Given the description of an element on the screen output the (x, y) to click on. 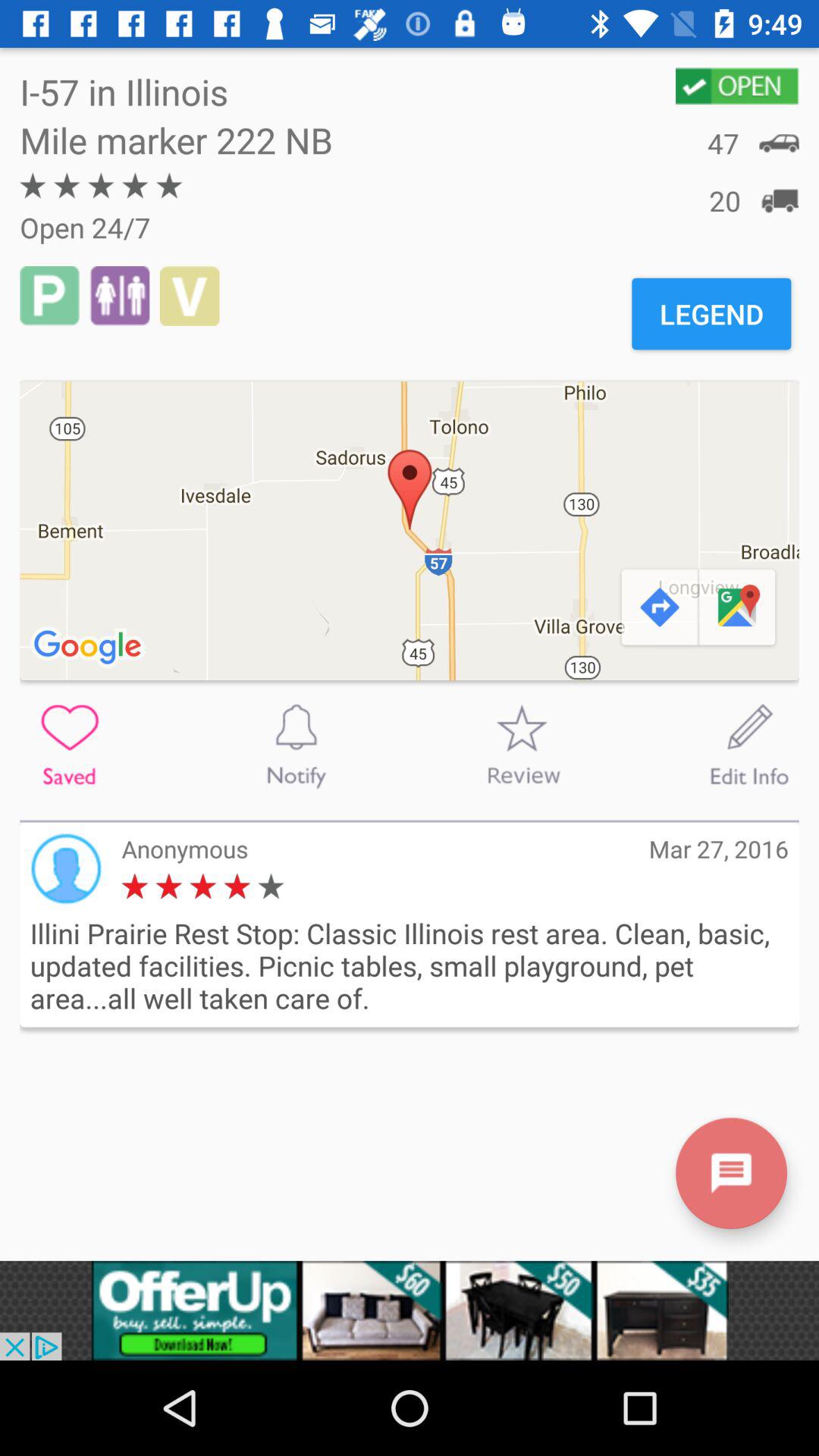
messeager (731, 1173)
